Given the description of an element on the screen output the (x, y) to click on. 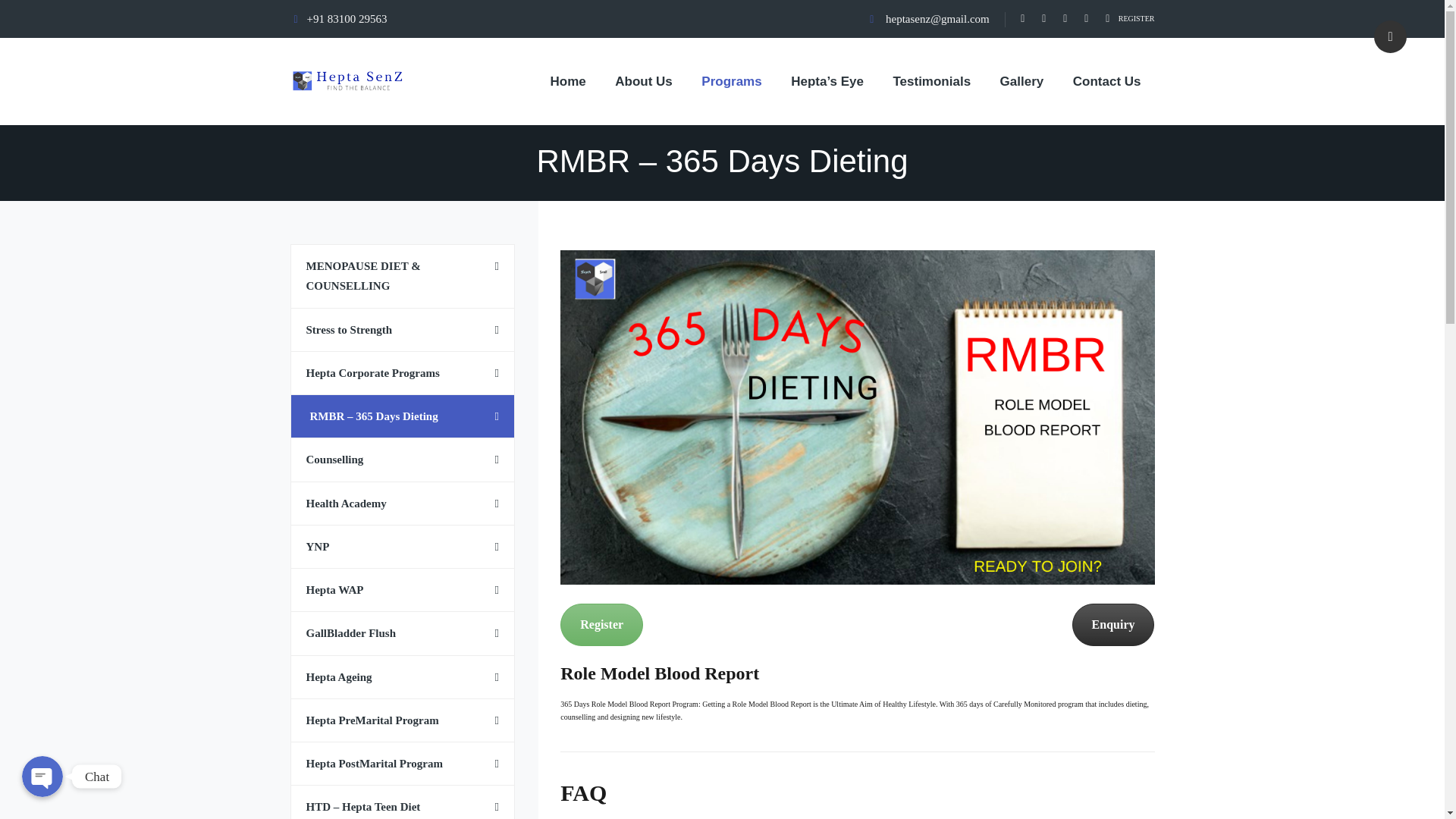
Home (568, 81)
Testimonials (931, 81)
Gallery (1022, 81)
Hepta Academy (346, 81)
REGISTER (1136, 18)
About Us (643, 81)
Programs (730, 81)
